Given the description of an element on the screen output the (x, y) to click on. 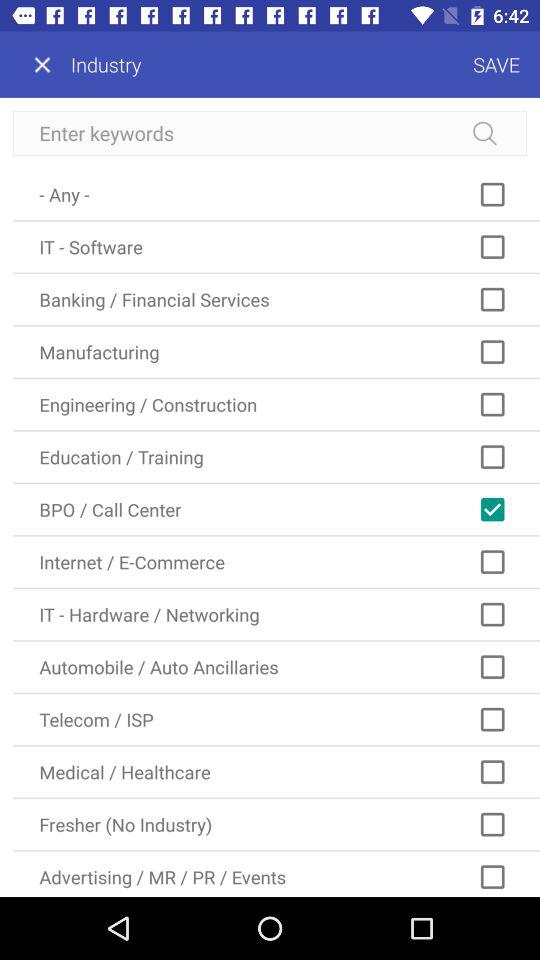
select the icon below education / training item (276, 509)
